Given the description of an element on the screen output the (x, y) to click on. 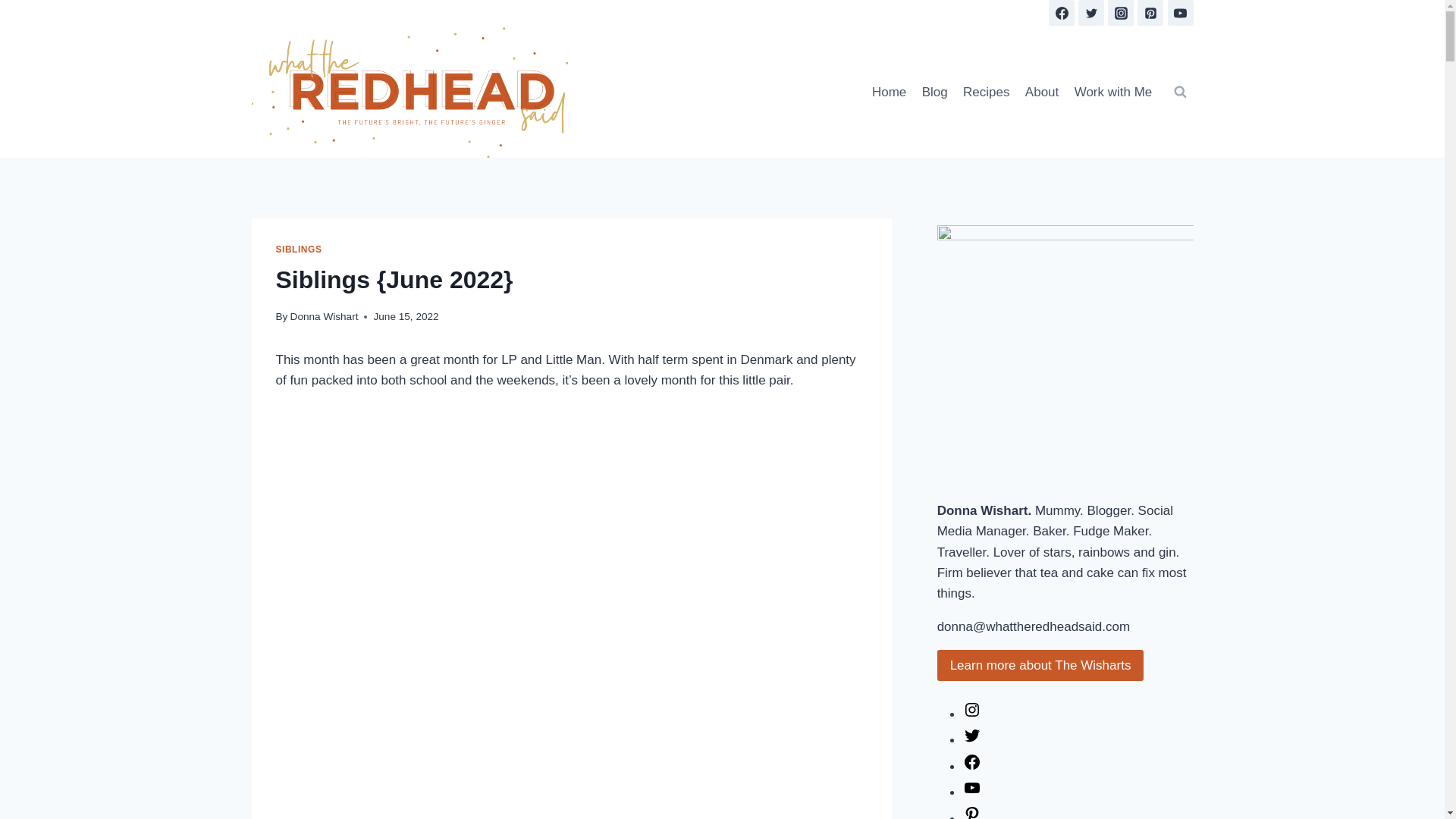
Home (889, 91)
Recipes (986, 91)
About (1042, 91)
SIBLINGS (298, 249)
Blog (934, 91)
Donna Wishart (323, 316)
Work with Me (1111, 91)
